Given the description of an element on the screen output the (x, y) to click on. 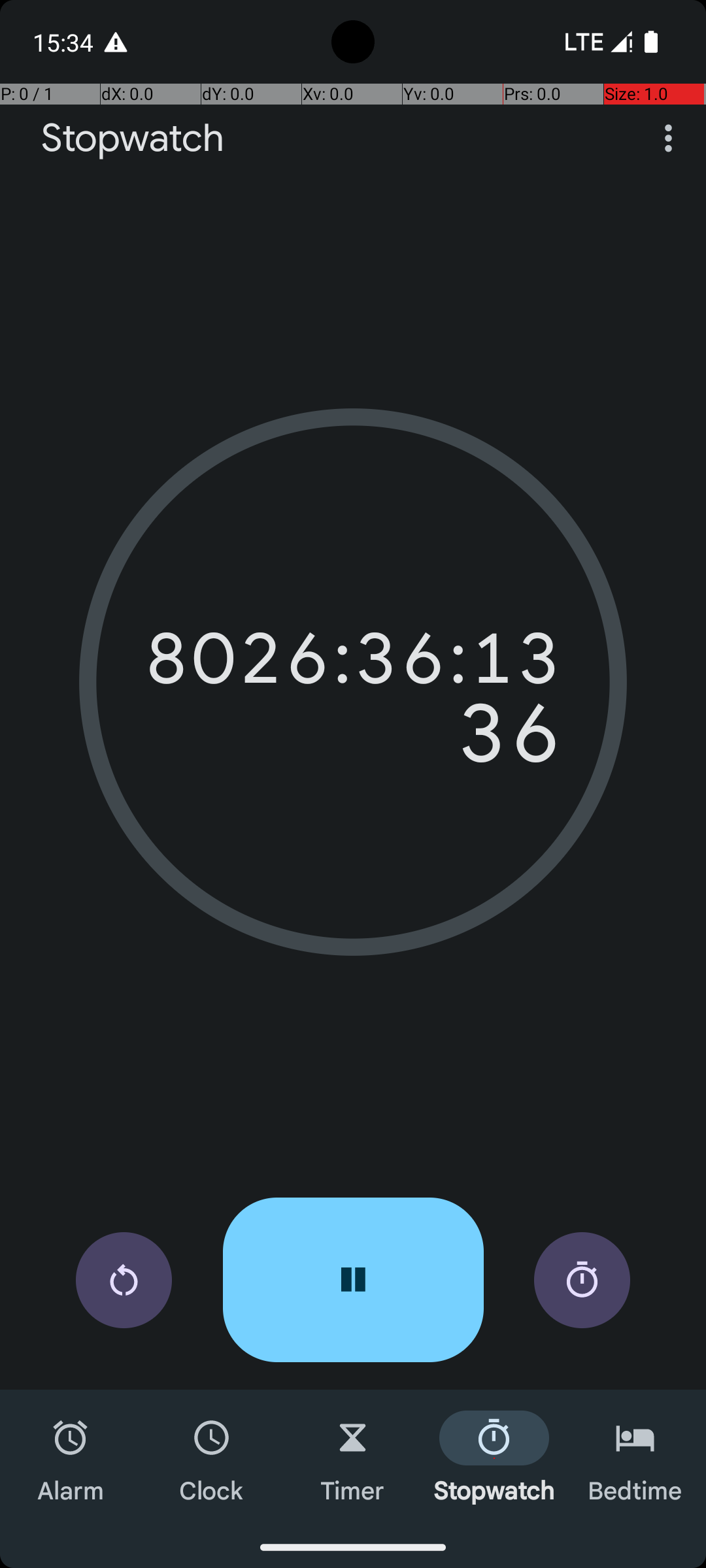
Pause Element type: android.widget.Button (352, 1279)
Lap Element type: android.widget.ImageButton (582, 1280)
8026:36:13 Element type: android.widget.TextView (352, 658)
